Given the description of an element on the screen output the (x, y) to click on. 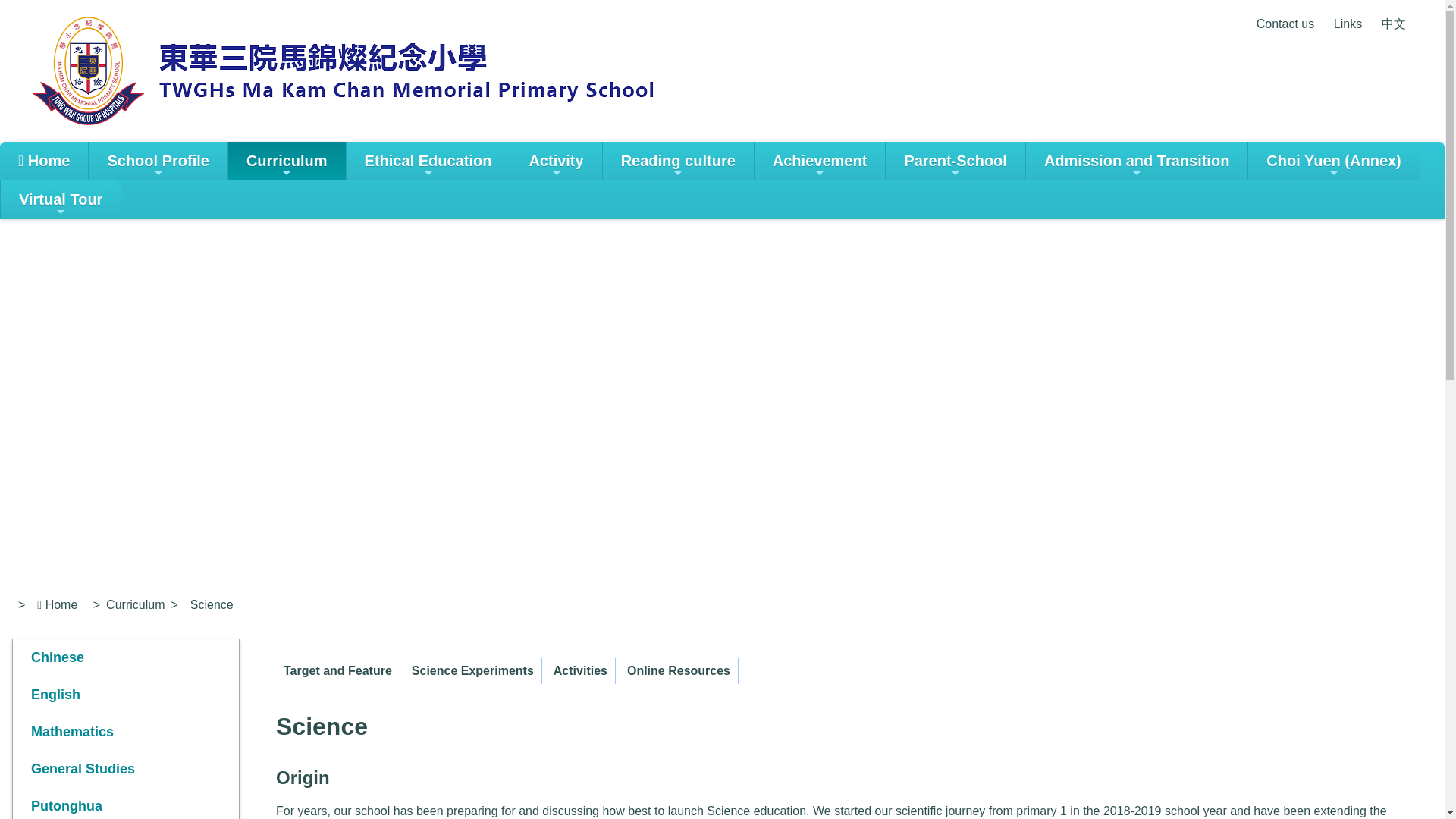
Curriculum (287, 160)
Ethical Education (428, 160)
Contact us (1284, 23)
Links (1347, 23)
School Profile (157, 160)
 Home (43, 160)
